Given the description of an element on the screen output the (x, y) to click on. 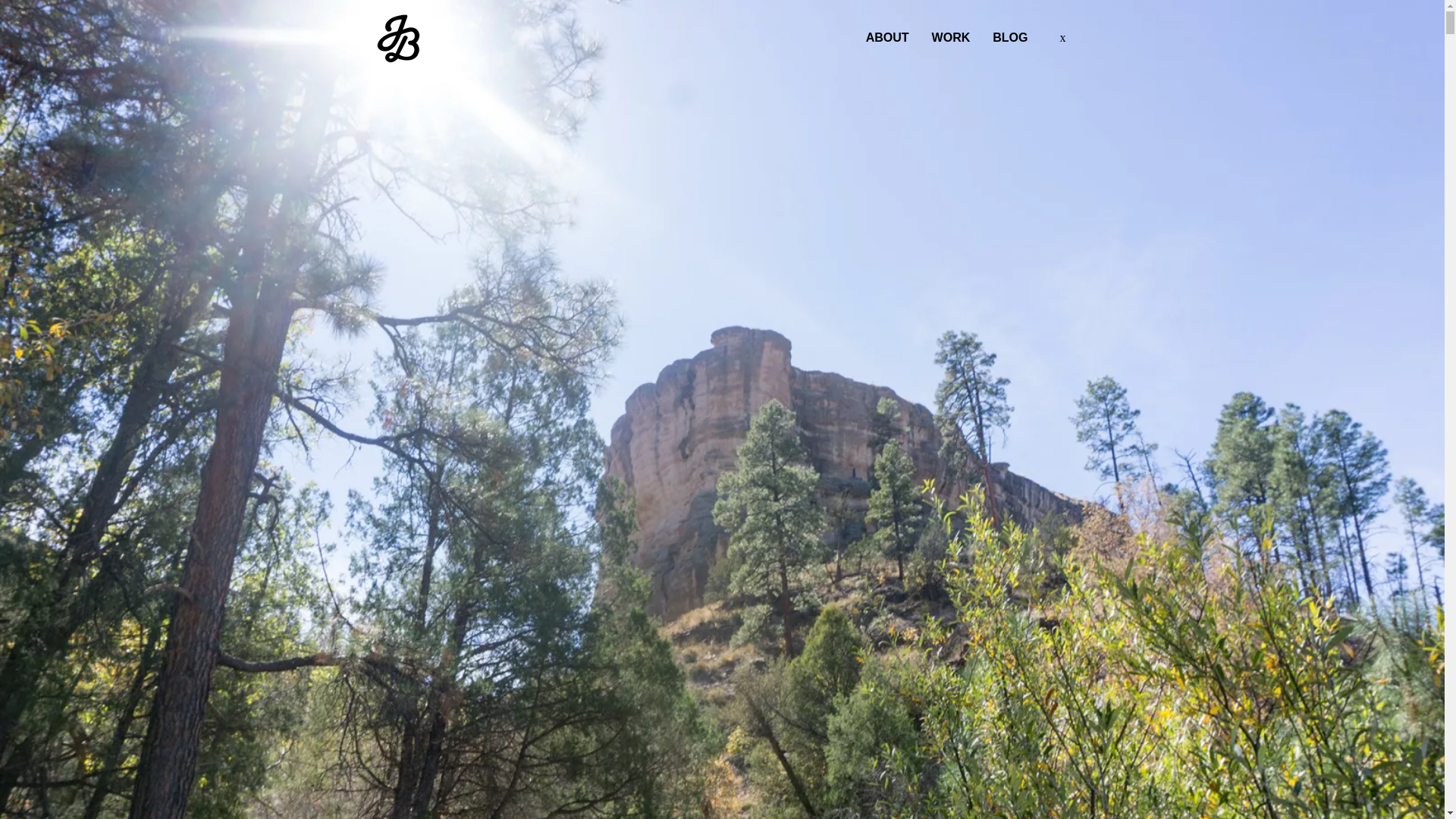
Josh Bell (397, 37)
ABOUT (887, 38)
WORK (951, 38)
BLOG (1009, 38)
Search (10, 12)
